Given the description of an element on the screen output the (x, y) to click on. 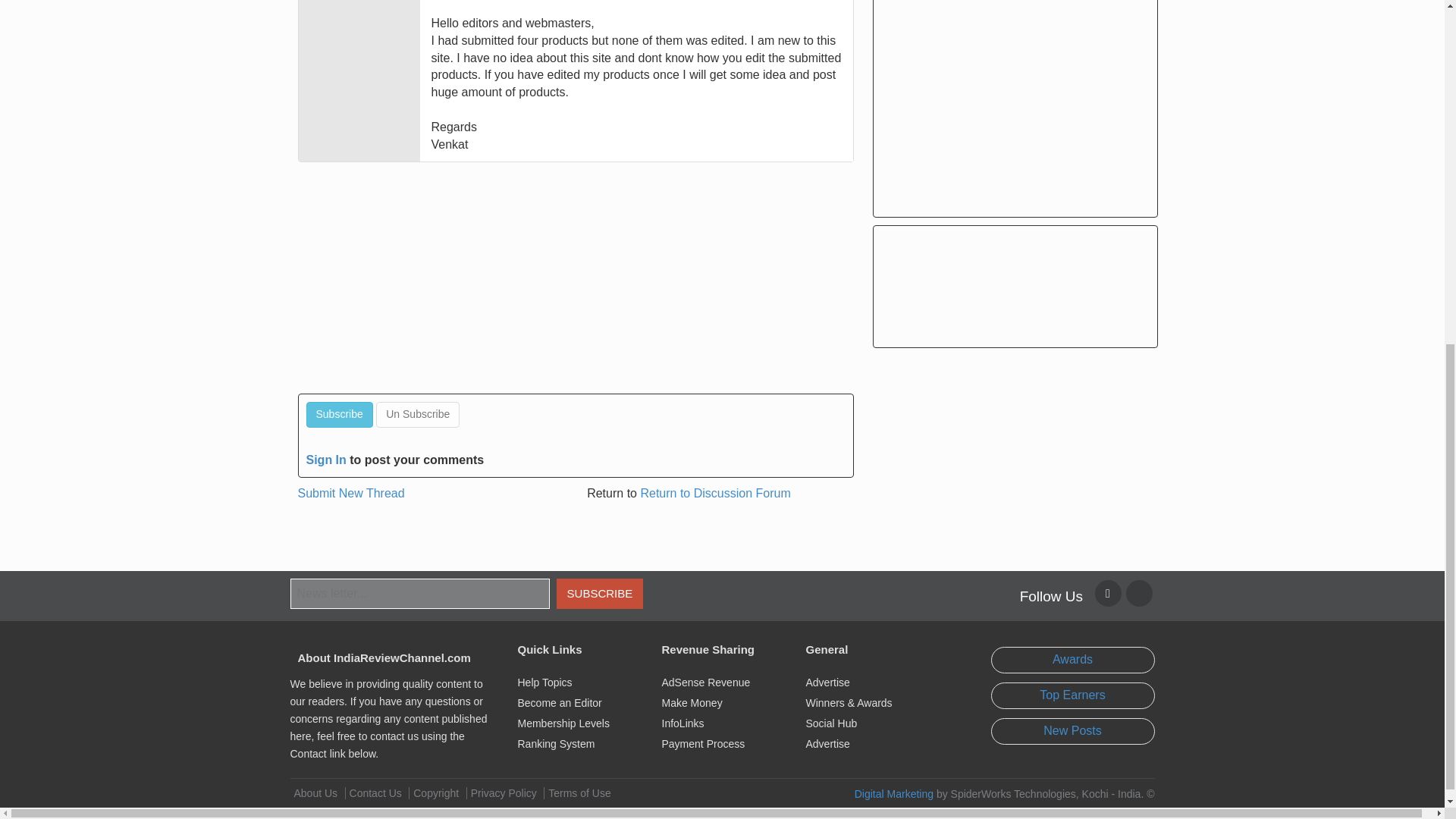
Subscribe (338, 414)
Un Subscribe (417, 414)
